Given the description of an element on the screen output the (x, y) to click on. 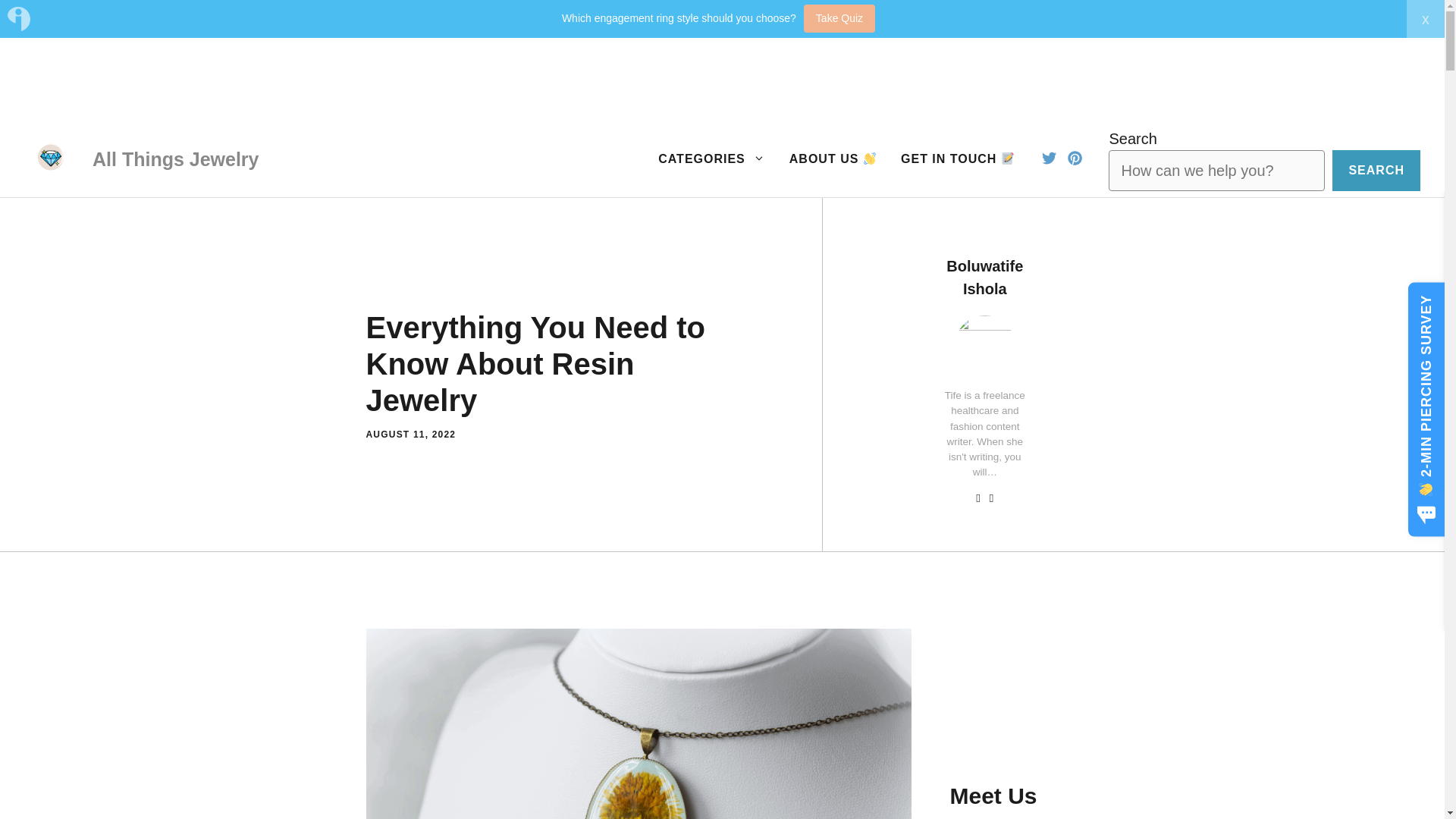
Boluwatife Ishola (984, 277)
Take Quiz (839, 18)
GET IN TOUCH (957, 158)
SEARCH (1376, 169)
CATEGORIES (711, 158)
ABOUT US (832, 158)
All Things Jewelry (176, 158)
